Given the description of an element on the screen output the (x, y) to click on. 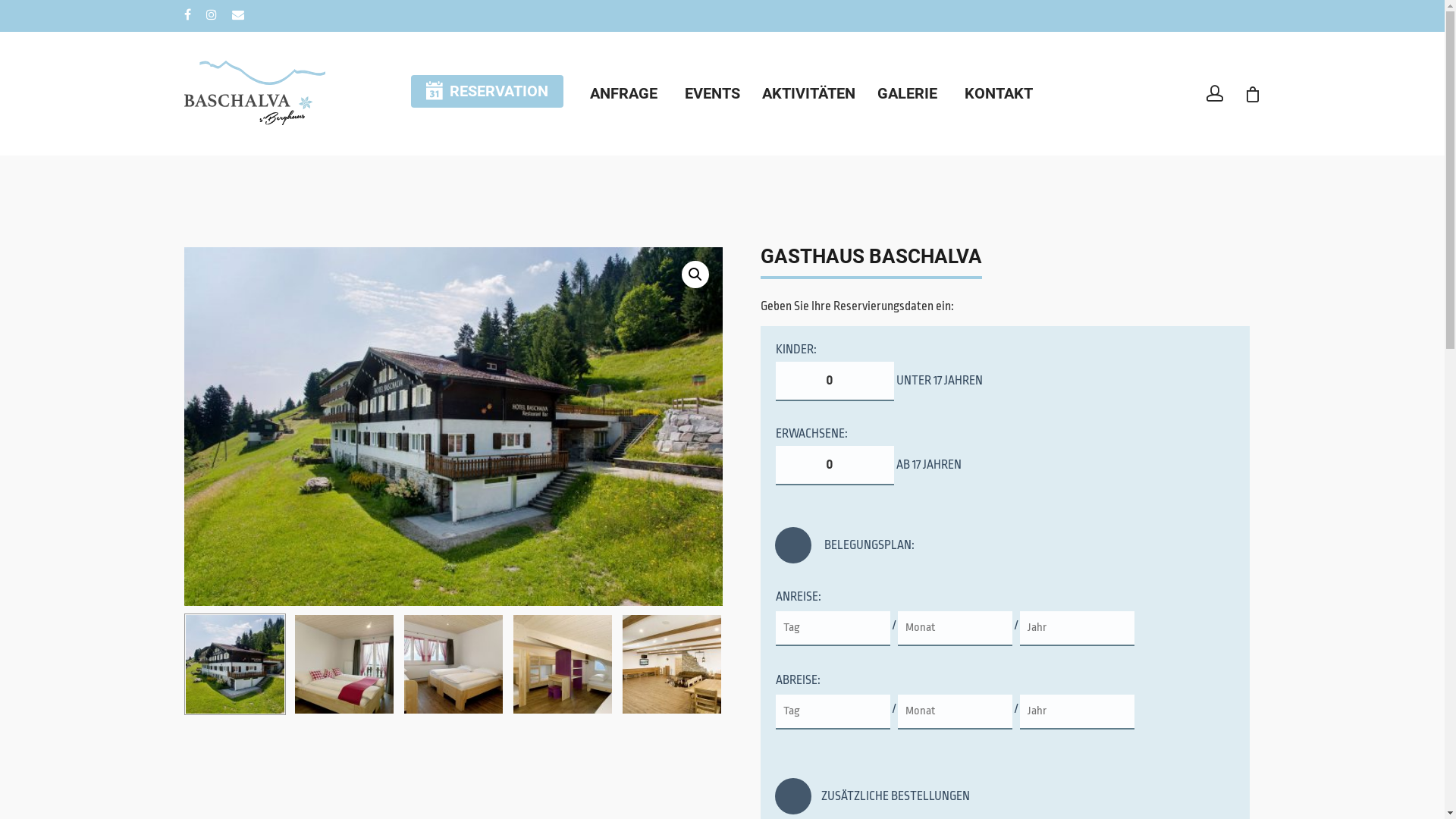
Created by CREATIVS Element type: text (777, 756)
EVENTS Element type: text (709, 92)
Baschalva Element type: hover (452, 426)
GALERIE Element type: text (907, 92)
ANFRAGE Element type: text (623, 92)
info@baschalva.ch Element type: text (721, 686)
KONTAKT Element type: text (998, 92)
RESERVATION Element type: text (487, 92)
